Given the description of an element on the screen output the (x, y) to click on. 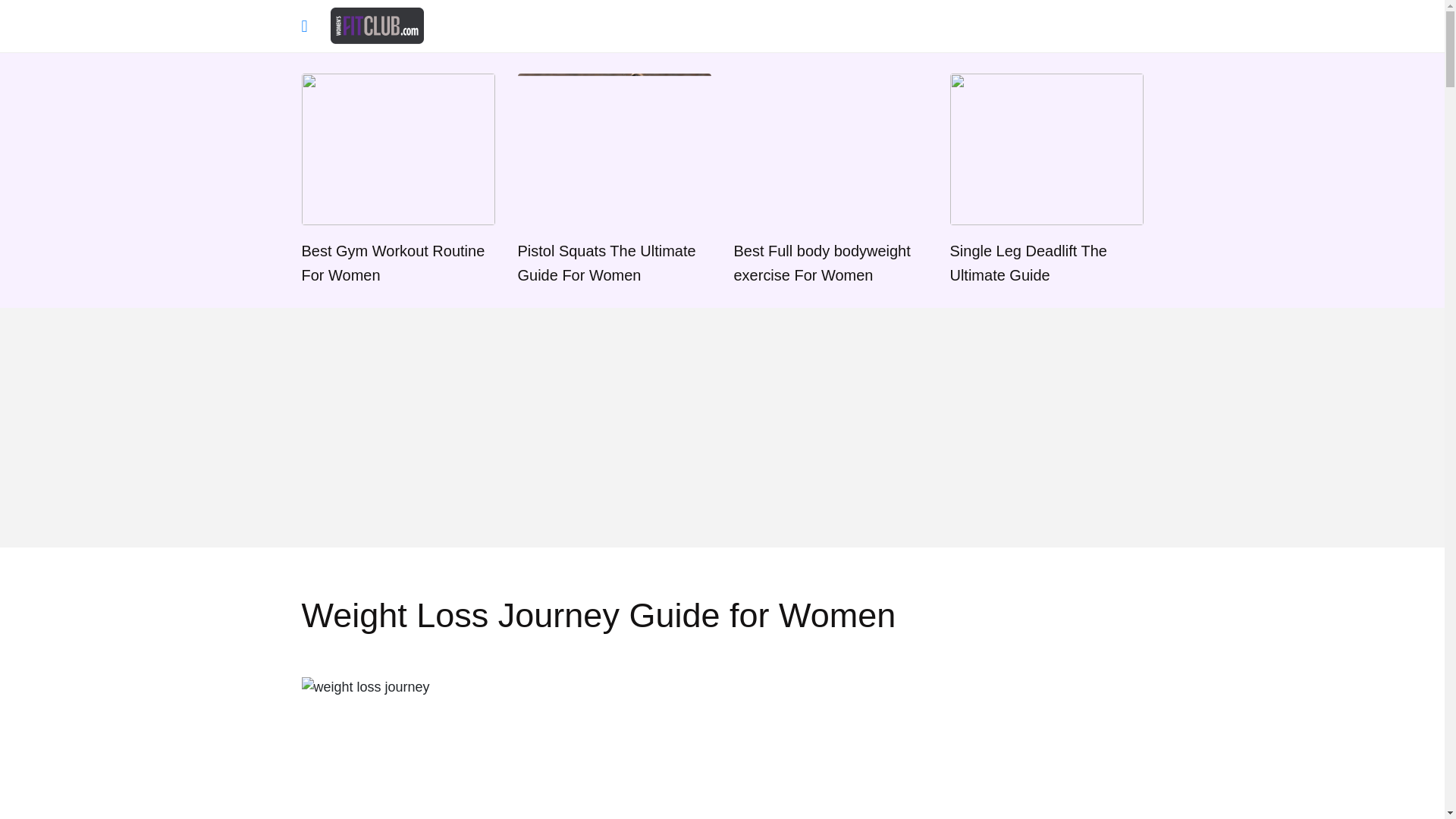
Best Full body bodyweight exercise For Women (830, 180)
read more Best Gym Workout Routine For Women (398, 180)
Women's Fit Club (376, 24)
Best Gym Workout Routine For Women (398, 180)
read more Single Leg Deadlift The Ultimate Guide (1045, 180)
Single Leg Deadlift The Ultimate Guide (1045, 180)
read more Pistol Squats The Ultimate Guide For Women (613, 180)
Pistol Squats The Ultimate Guide For Women (613, 180)
read more Best Full body bodyweight exercise For Women (830, 180)
